Given the description of an element on the screen output the (x, y) to click on. 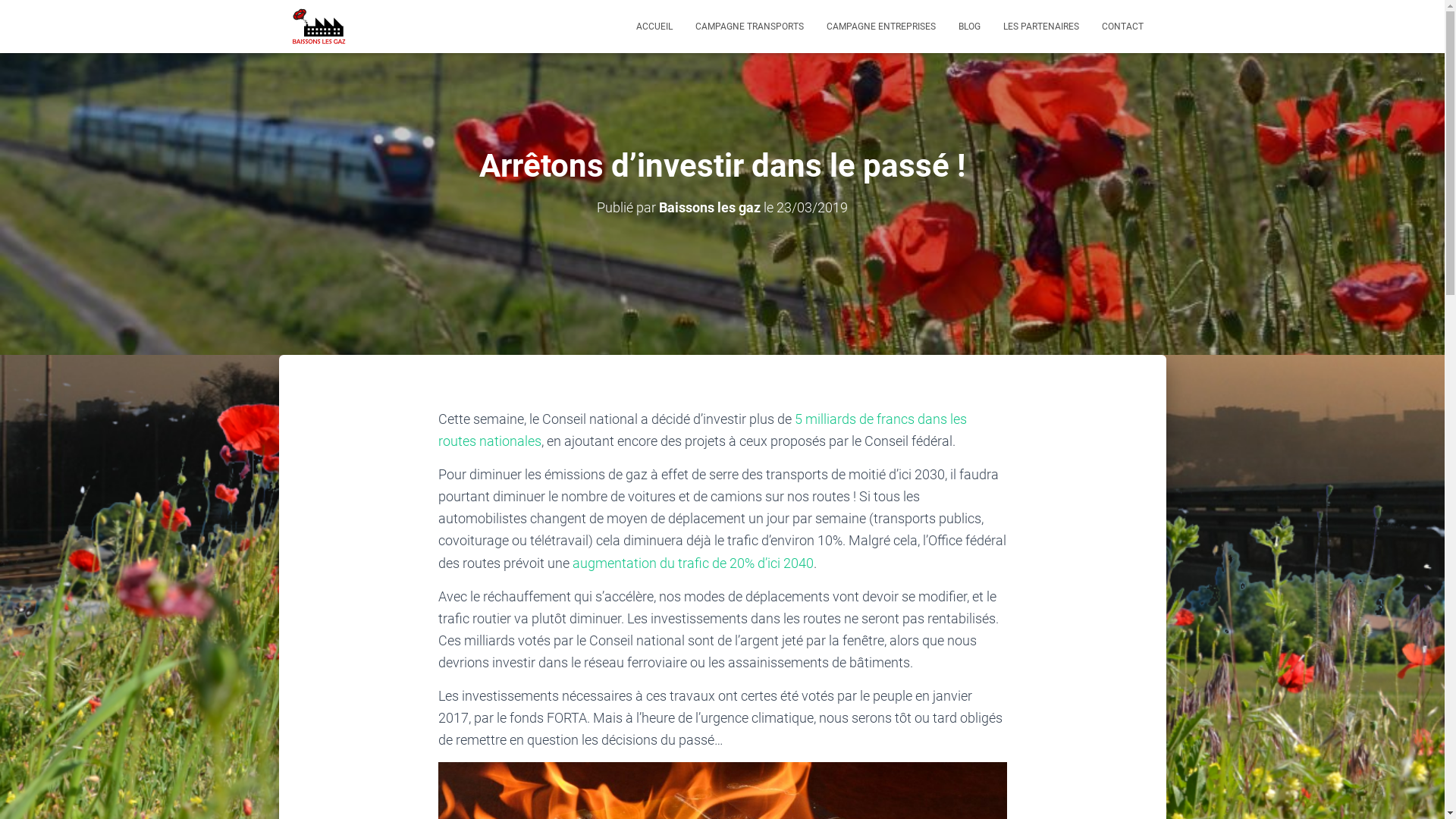
5 milliards de francs dans les routes nationales Element type: text (702, 429)
LES PARTENAIRES Element type: text (1040, 26)
CAMPAGNE TRANSPORTS Element type: text (749, 26)
BLOG Element type: text (968, 26)
ACCUEIL Element type: text (654, 26)
Baissons les gaz Element type: hover (318, 26)
CONTACT Element type: text (1122, 26)
Baissons les gaz Element type: text (709, 207)
CAMPAGNE ENTREPRISES Element type: text (880, 26)
